Given the description of an element on the screen output the (x, y) to click on. 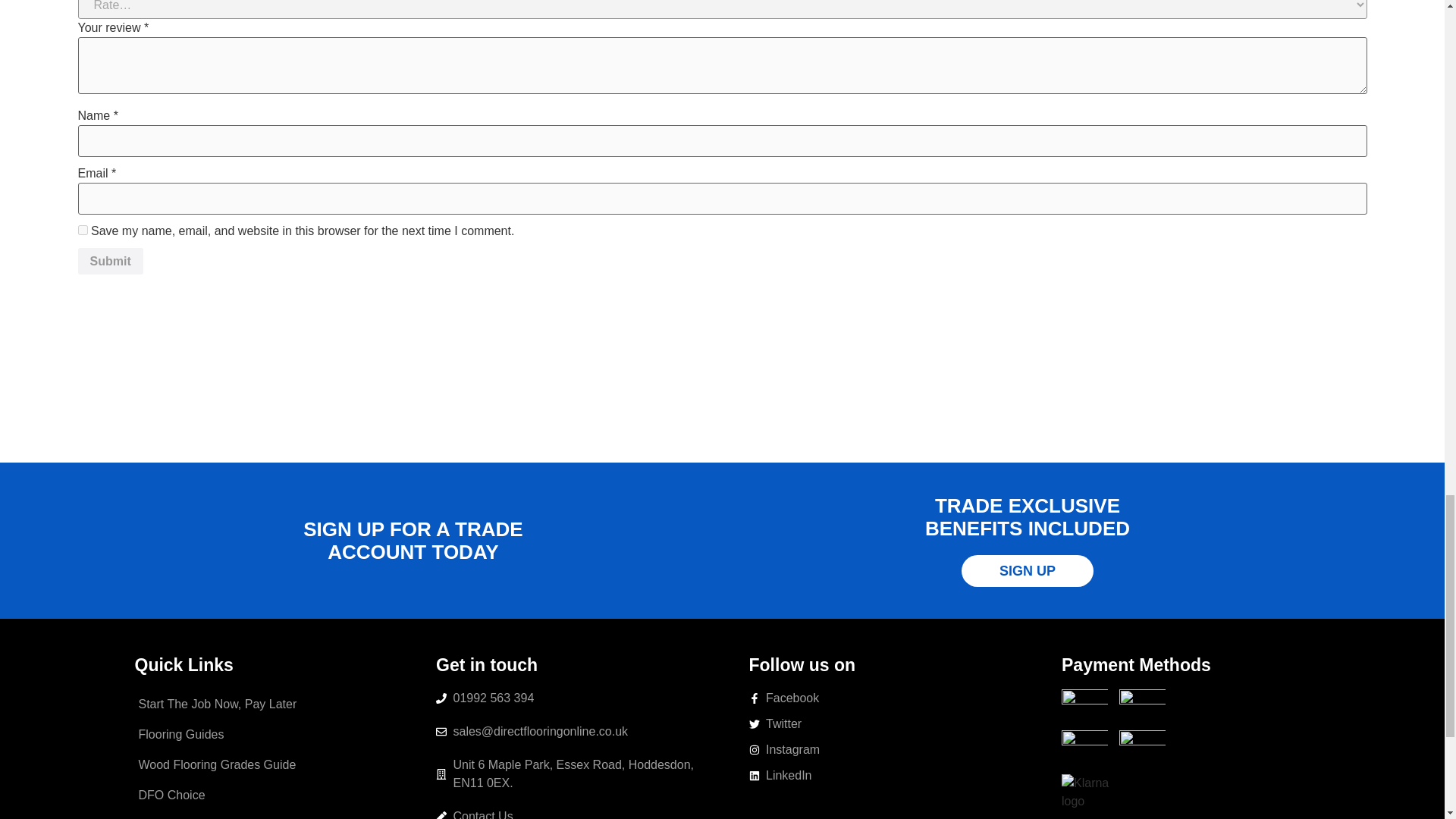
Submit (109, 261)
yes (82, 230)
